Given the description of an element on the screen output the (x, y) to click on. 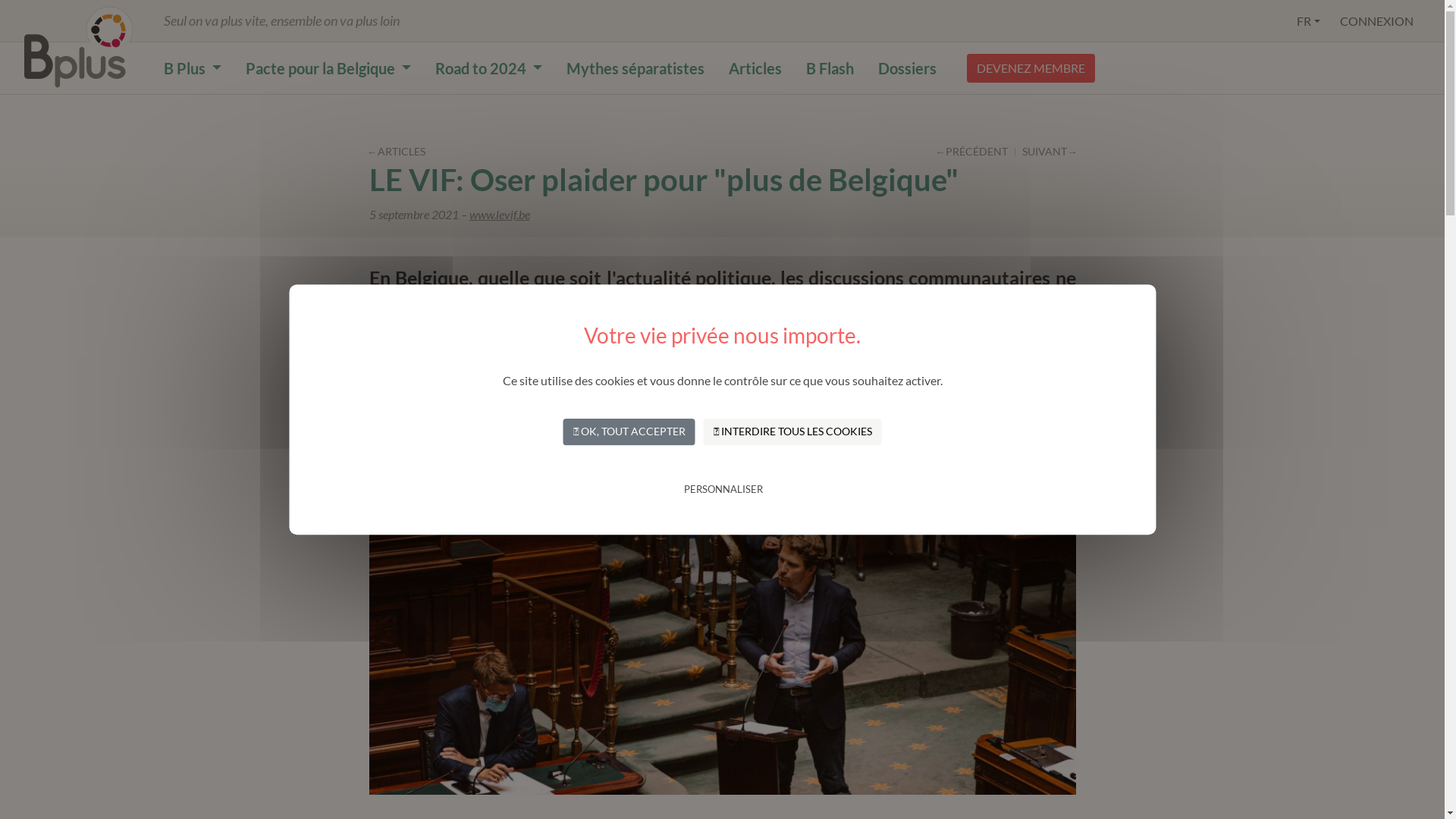
FR Element type: text (1308, 20)
B Plus Element type: text (192, 67)
Road to 2024 Element type: text (488, 67)
www.levif.be Element type: text (498, 214)
CONNEXION Element type: text (1376, 20)
Pacte pour la Belgique Element type: text (328, 67)
DEVENEZ MEMBRE Element type: text (1030, 67)
PERSONNALISER Element type: text (723, 489)
B Flash Element type: text (829, 67)
Dossiers Element type: text (907, 67)
Articles Element type: text (754, 67)
